Given the description of an element on the screen output the (x, y) to click on. 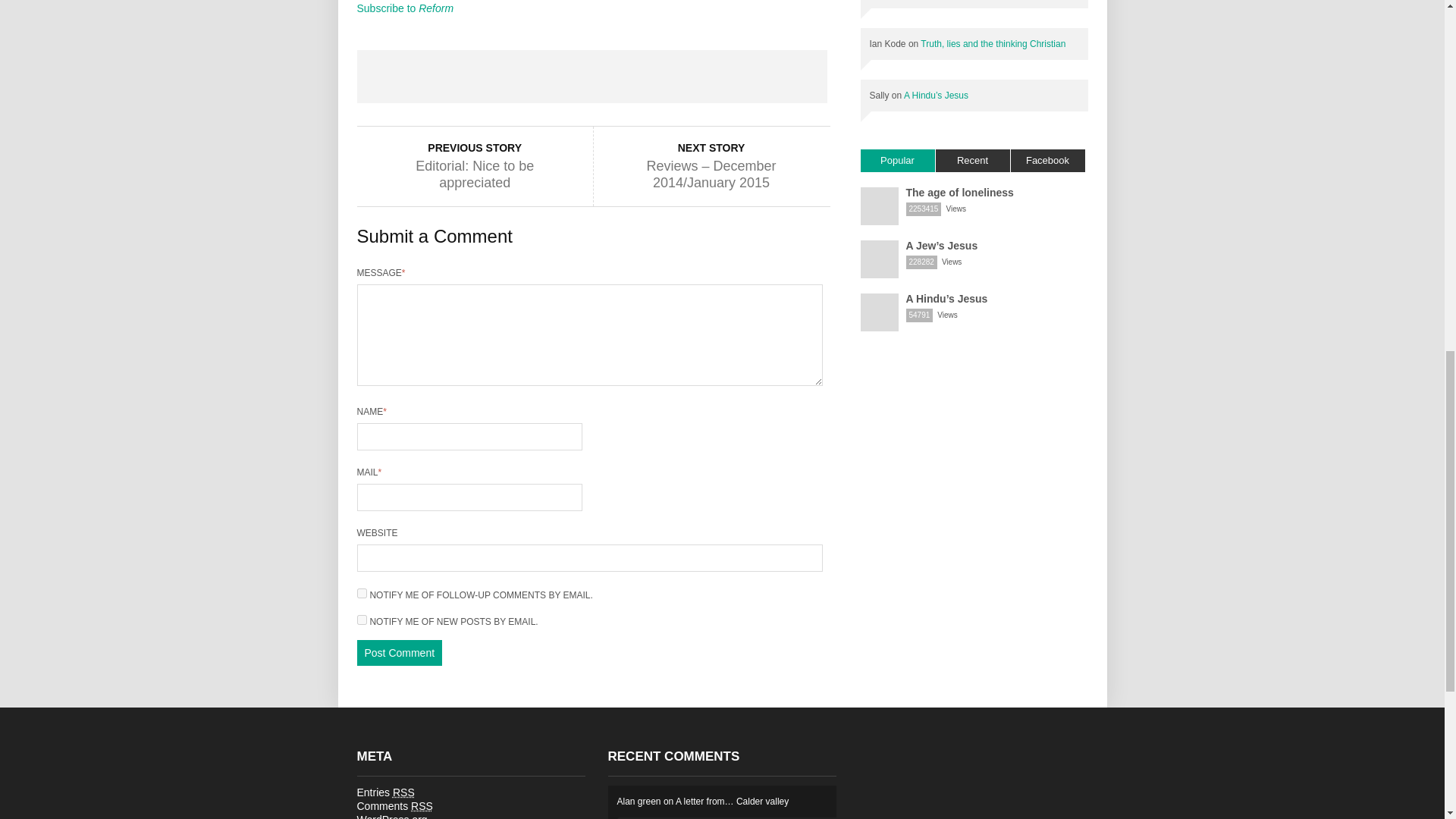
Post Comment (399, 652)
Reform Subscriptions (404, 8)
Tweet This (497, 76)
Email This (780, 76)
Share on Google Plus (591, 76)
Really Simple Syndication (403, 792)
subscribe (361, 619)
Pin This (686, 76)
subscribe (361, 593)
Share on Facebook (402, 76)
Really Simple Syndication (421, 806)
